Given the description of an element on the screen output the (x, y) to click on. 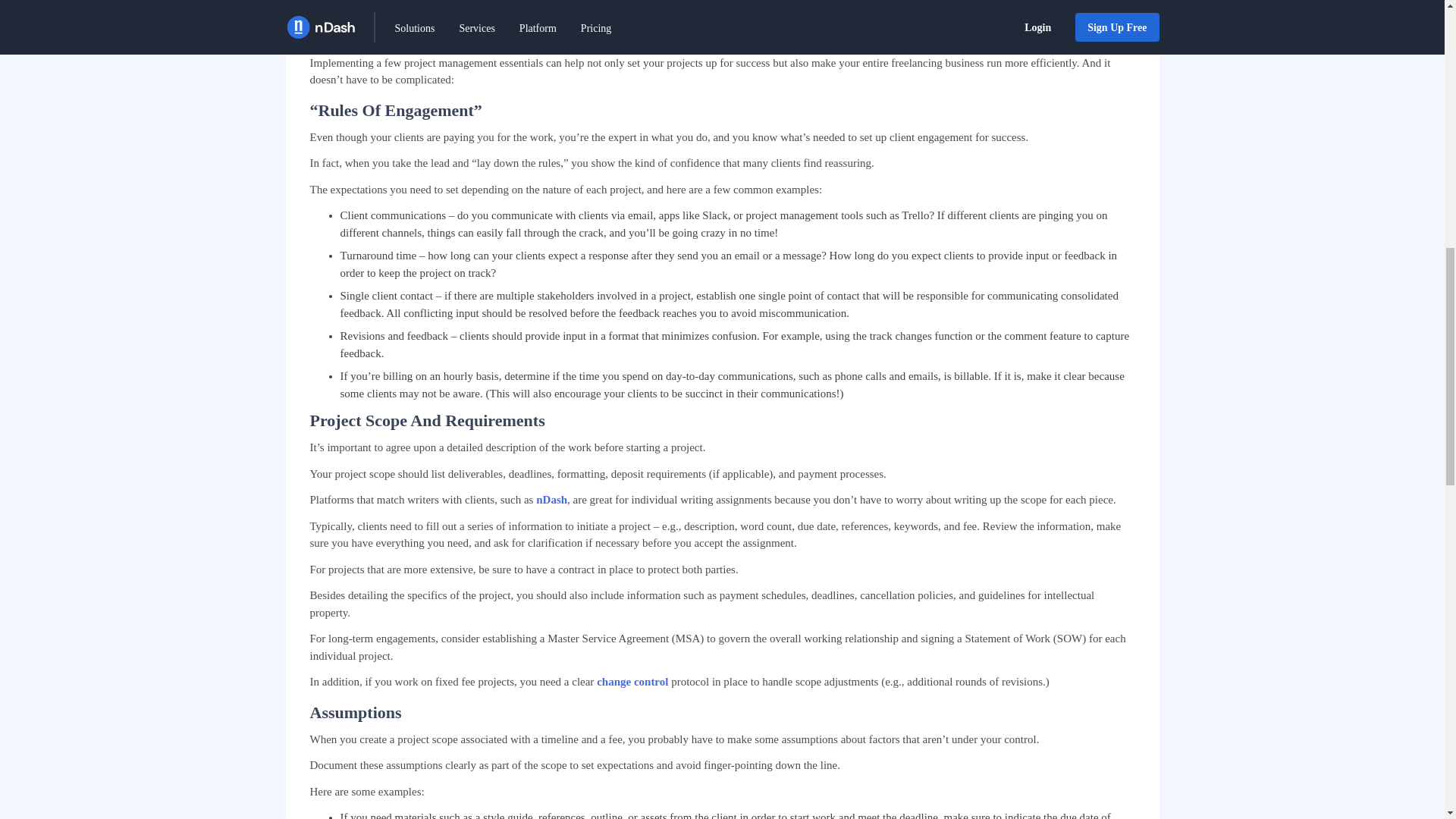
nDash (551, 499)
change control (632, 681)
